Given the description of an element on the screen output the (x, y) to click on. 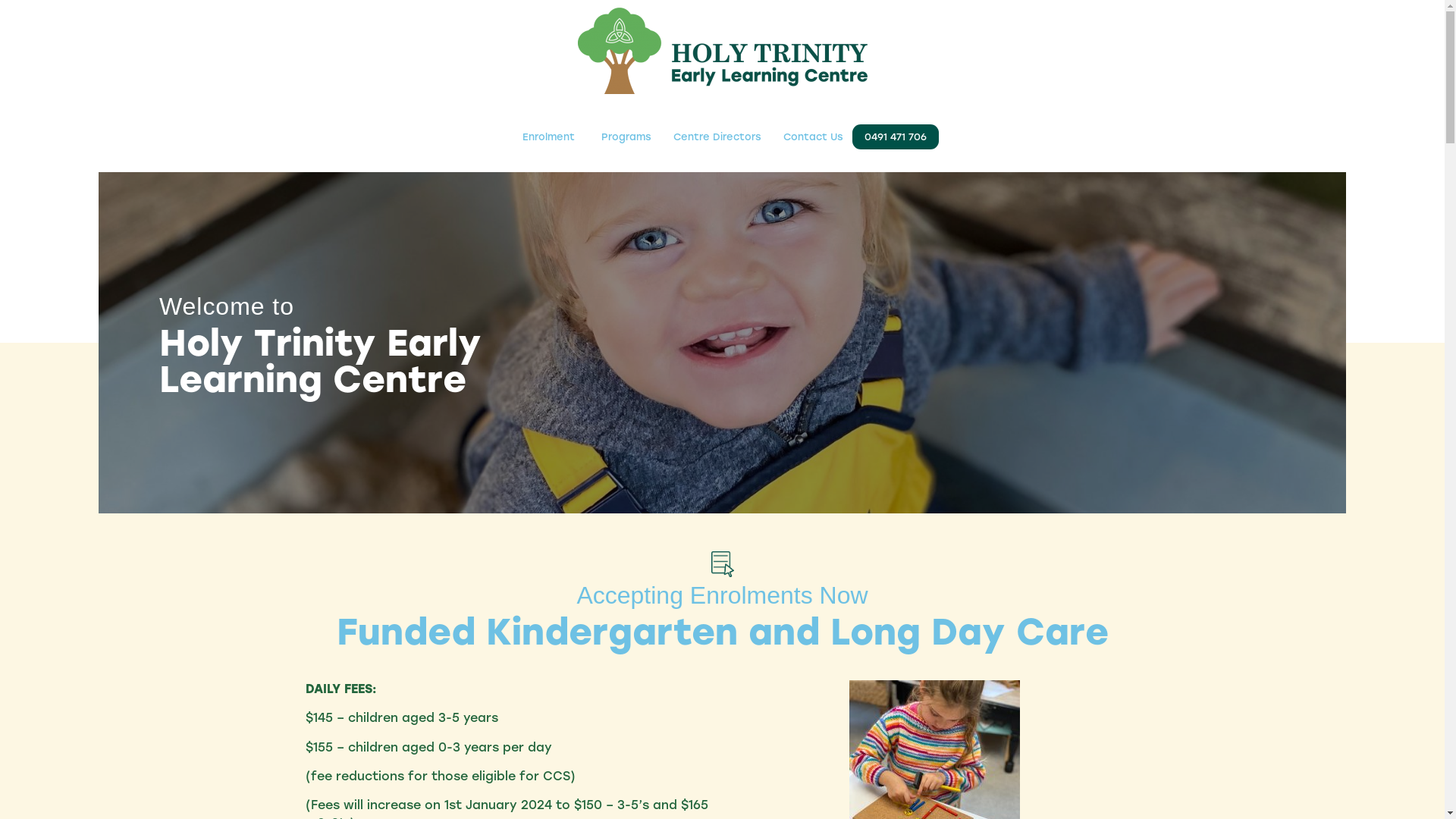
Contact Us Element type: text (813, 136)
0491 471 706 Element type: text (895, 136)
Centre Directors Element type: text (717, 136)
Holy-Trinity-ELC_logo_primary_pos_rgb Element type: hover (722, 50)
Programs Element type: text (626, 136)
Enrolment Element type: text (548, 136)
